Given the description of an element on the screen output the (x, y) to click on. 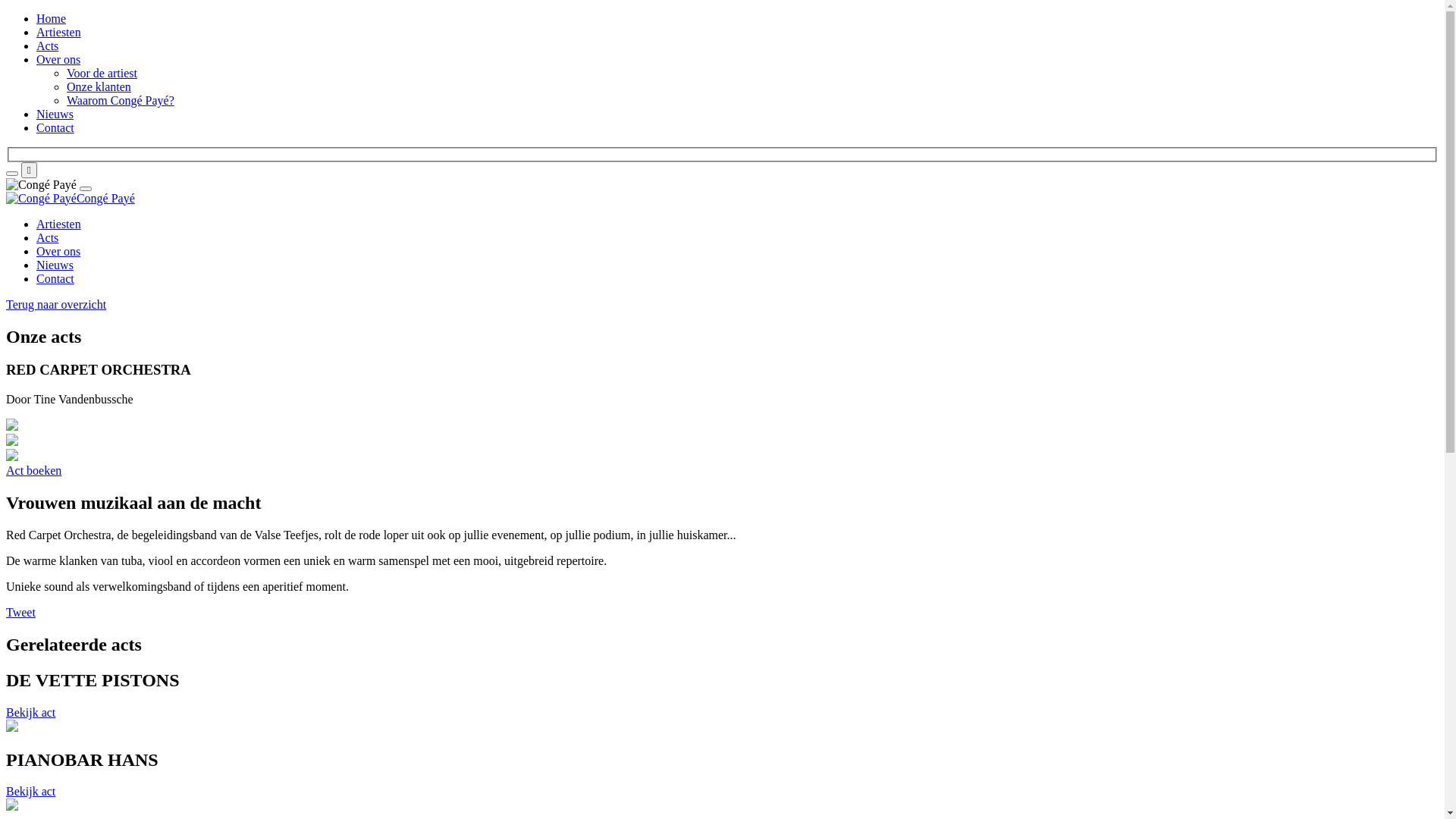
Act boeken Element type: text (33, 470)
Artiesten Element type: text (58, 223)
Tweet Element type: text (20, 611)
Bekijk act Element type: text (30, 712)
Acts Element type: text (47, 237)
Bekijk act Element type: text (30, 790)
Terug naar overzicht Element type: text (56, 304)
Home Element type: text (50, 18)
Over ons Element type: text (58, 250)
Nieuws Element type: text (54, 264)
Nieuws Element type: text (54, 113)
Voor de artiest Element type: text (101, 72)
Onze klanten Element type: text (98, 86)
Artiesten Element type: text (58, 31)
Over ons Element type: text (58, 59)
Acts Element type: text (47, 45)
Contact Element type: text (55, 127)
Contact Element type: text (55, 278)
